Given the description of an element on the screen output the (x, y) to click on. 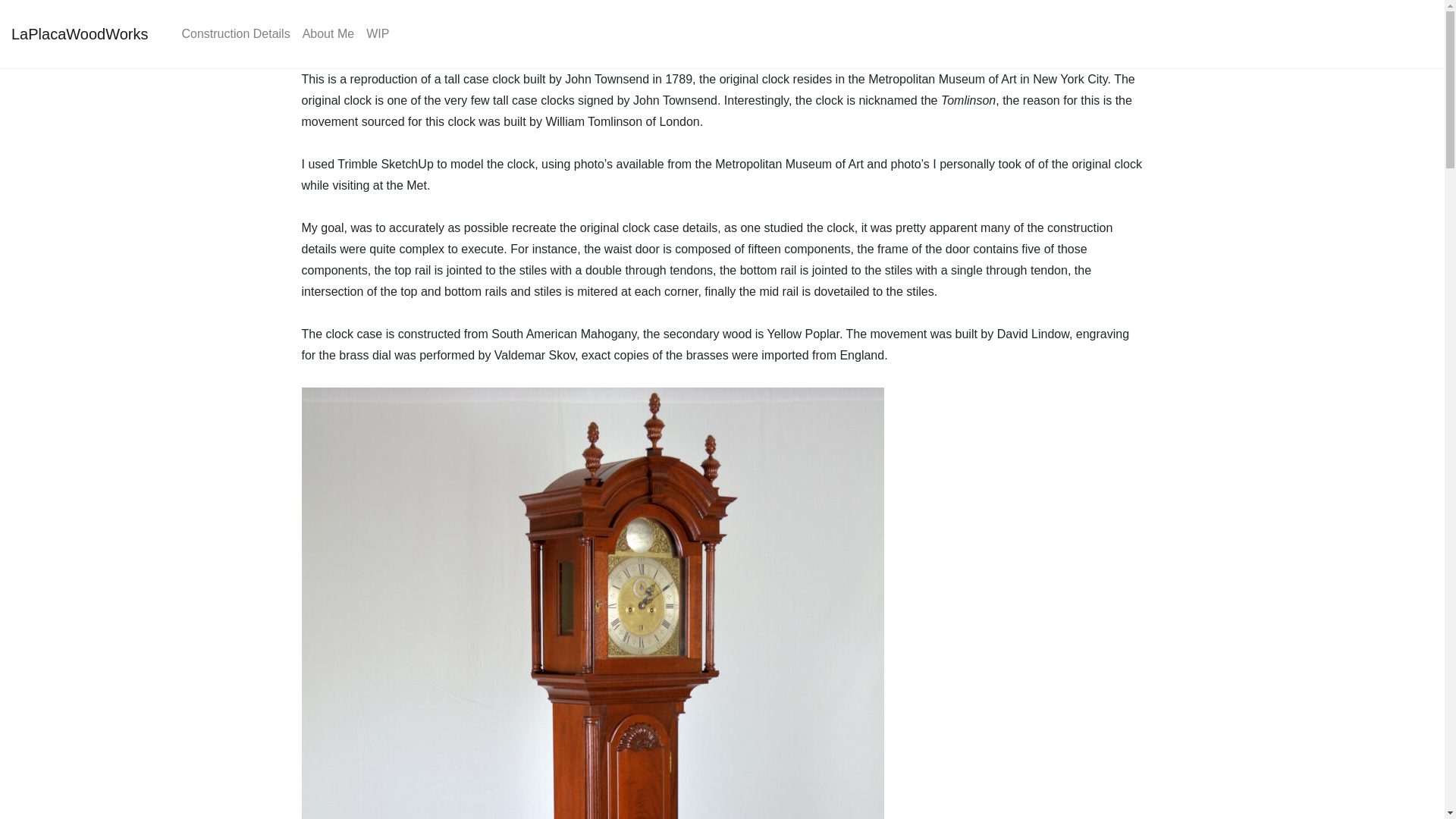
Construction Details (234, 33)
LaPlacaWoodWorks (79, 33)
Construction Details (234, 33)
About Me (328, 33)
LaPlacaWoodWorks (79, 33)
About Me (328, 33)
